Given the description of an element on the screen output the (x, y) to click on. 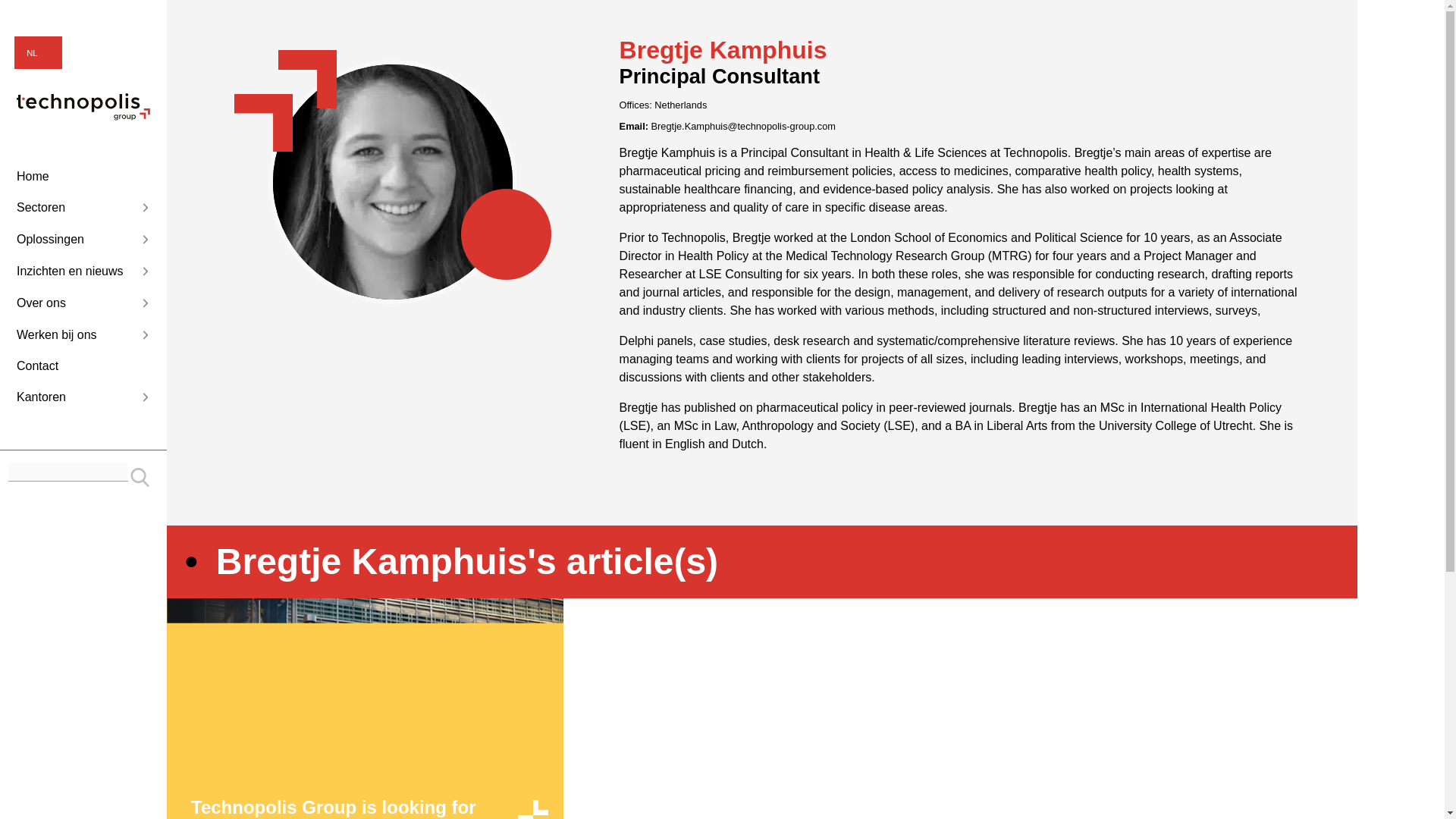
Twitter (1331, 19)
Technopolis Group (82, 106)
Oplossingen (82, 239)
NL (37, 53)
Sectoren (82, 207)
LinkedIn (1304, 19)
NL (37, 53)
Werken bij ons (82, 334)
technopolis (82, 115)
Over ons (82, 302)
Inzichten en nieuws (82, 271)
Home (82, 176)
